Given the description of an element on the screen output the (x, y) to click on. 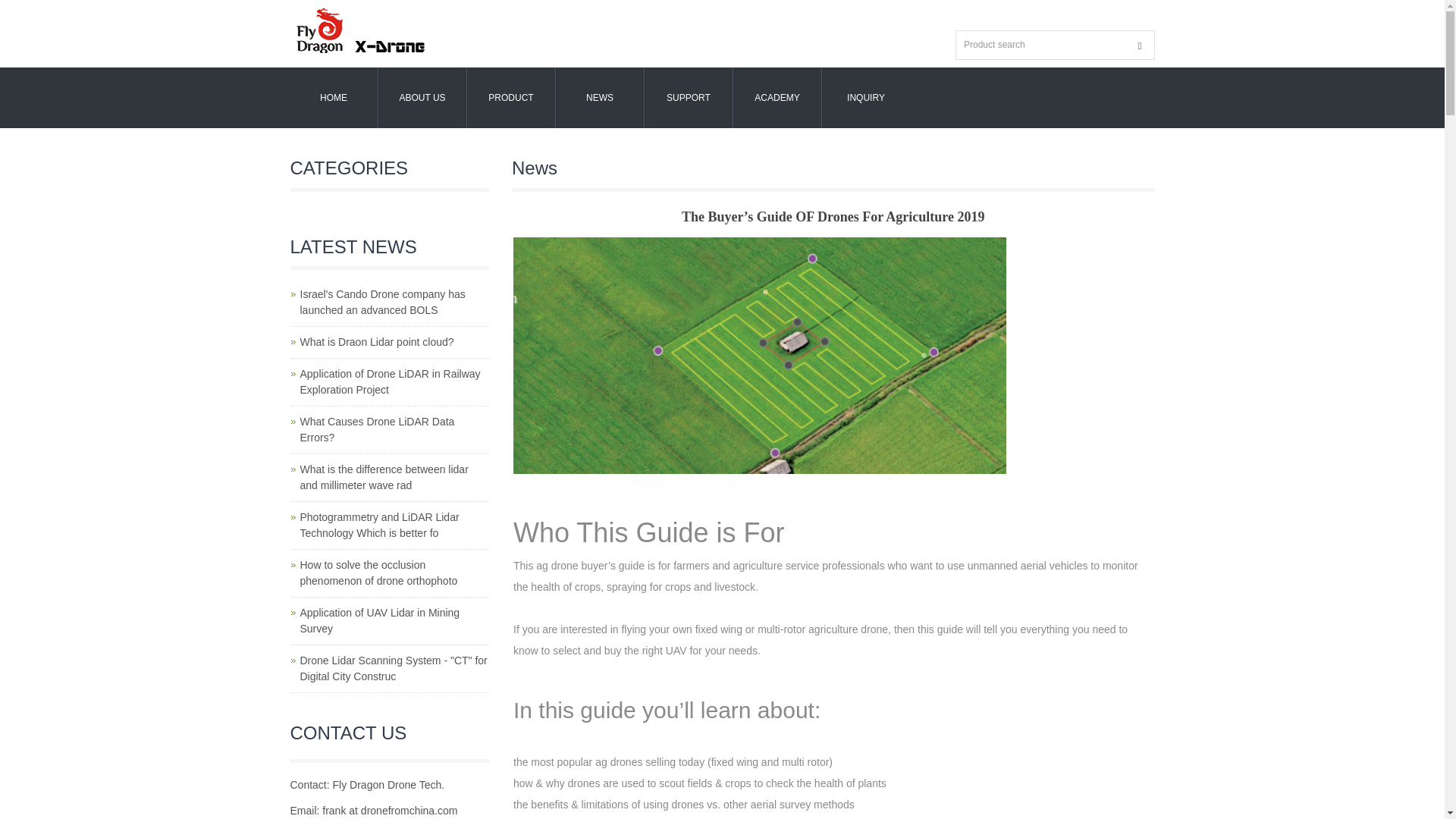
NEWS (599, 97)
ACADEMY (777, 97)
PRODUCT (510, 97)
Product search (1139, 45)
ABOUT US (421, 97)
What is Draon Lidar point cloud? (376, 341)
What Causes Drone LiDAR Data Errors? (376, 429)
